Given the description of an element on the screen output the (x, y) to click on. 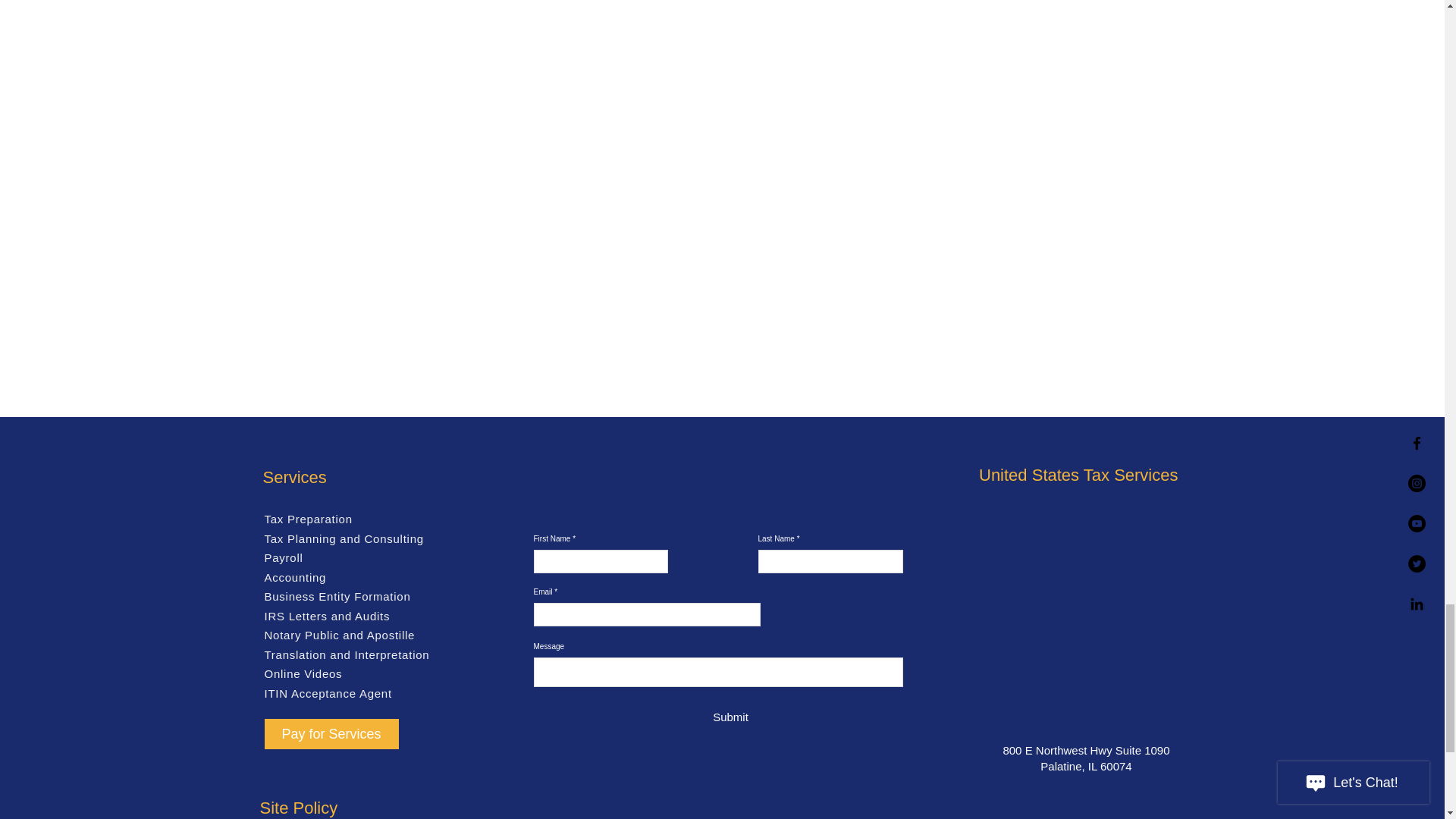
IRS Letters and Audits (326, 615)
Google Maps (1080, 610)
Accounting (294, 576)
Business Entity Formation (336, 595)
Tax Planning and Consulting (343, 538)
Payroll (282, 557)
Translation and Interpretation (346, 654)
Notary Public and Apostille (338, 634)
Tax Preparation (307, 518)
